Given the description of an element on the screen output the (x, y) to click on. 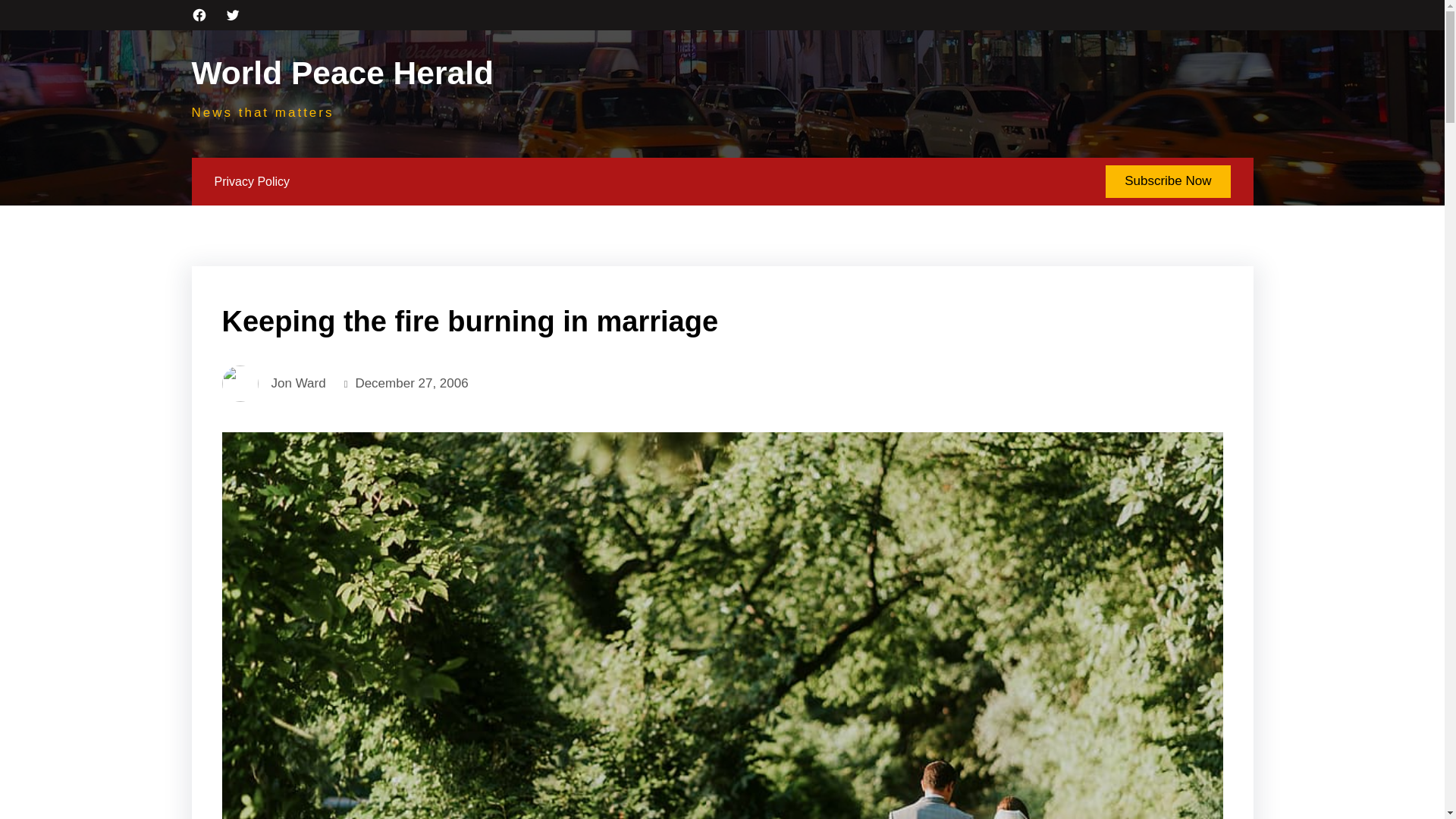
Facebook (198, 14)
Subscribe Now (1167, 181)
Twitter (232, 14)
World Peace Herald (341, 75)
Privacy Policy (251, 181)
